Given the description of an element on the screen output the (x, y) to click on. 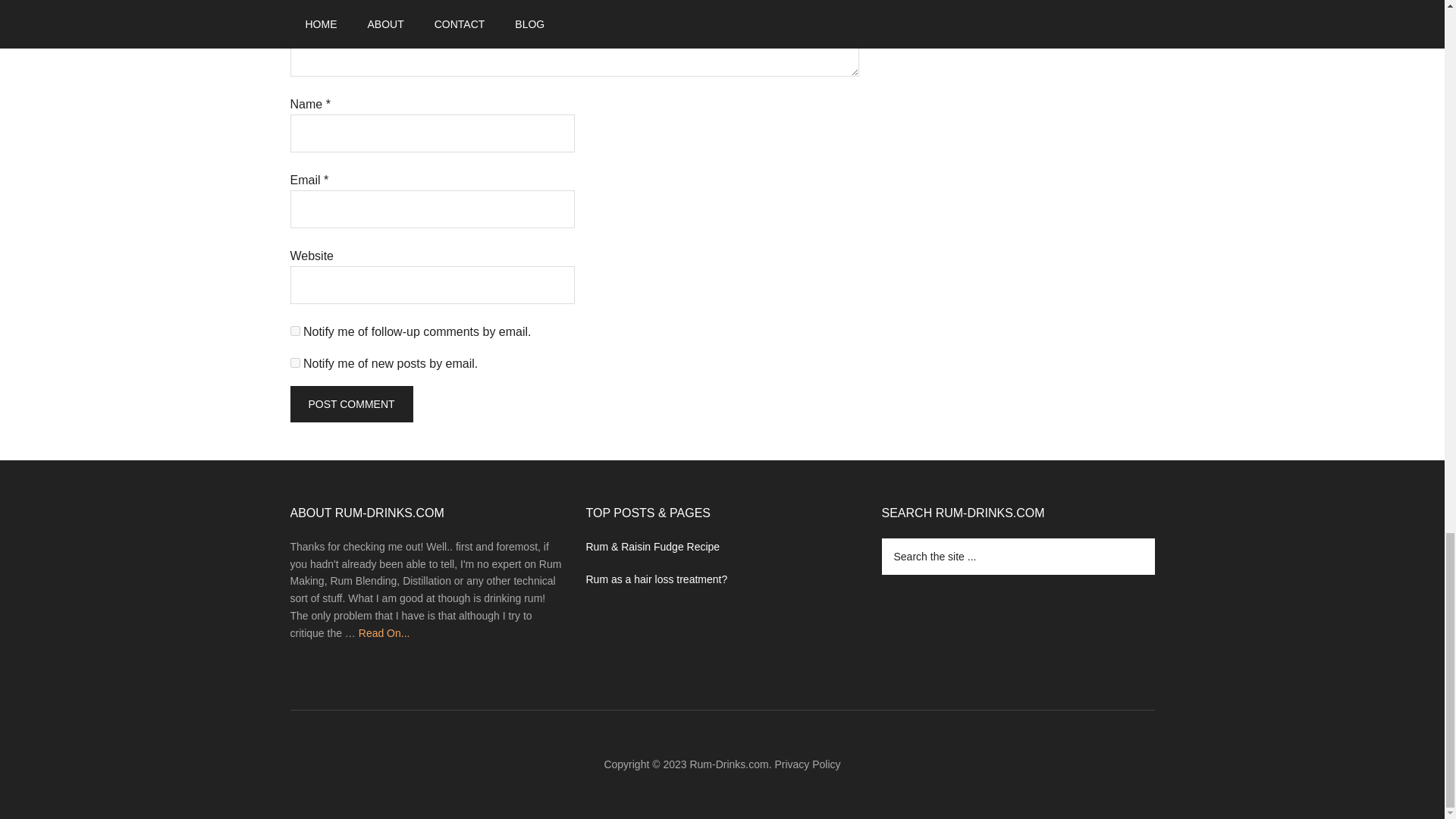
Post Comment (350, 403)
Post Comment (350, 403)
Advertisement (994, 10)
subscribe (294, 362)
subscribe (294, 330)
